Given the description of an element on the screen output the (x, y) to click on. 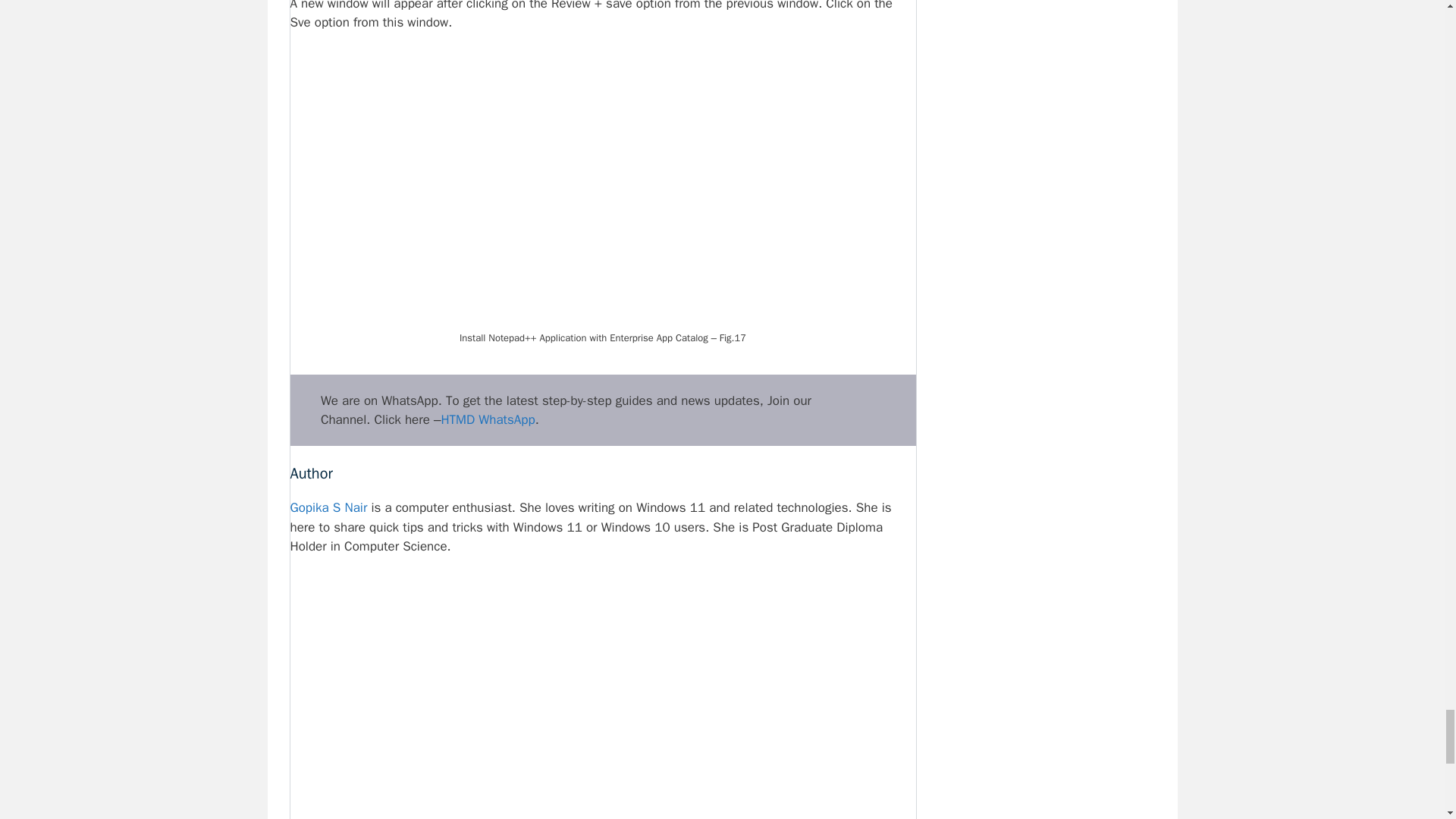
HTMD WhatsApp (487, 419)
Gopika S Nair (327, 507)
